Given the description of an element on the screen output the (x, y) to click on. 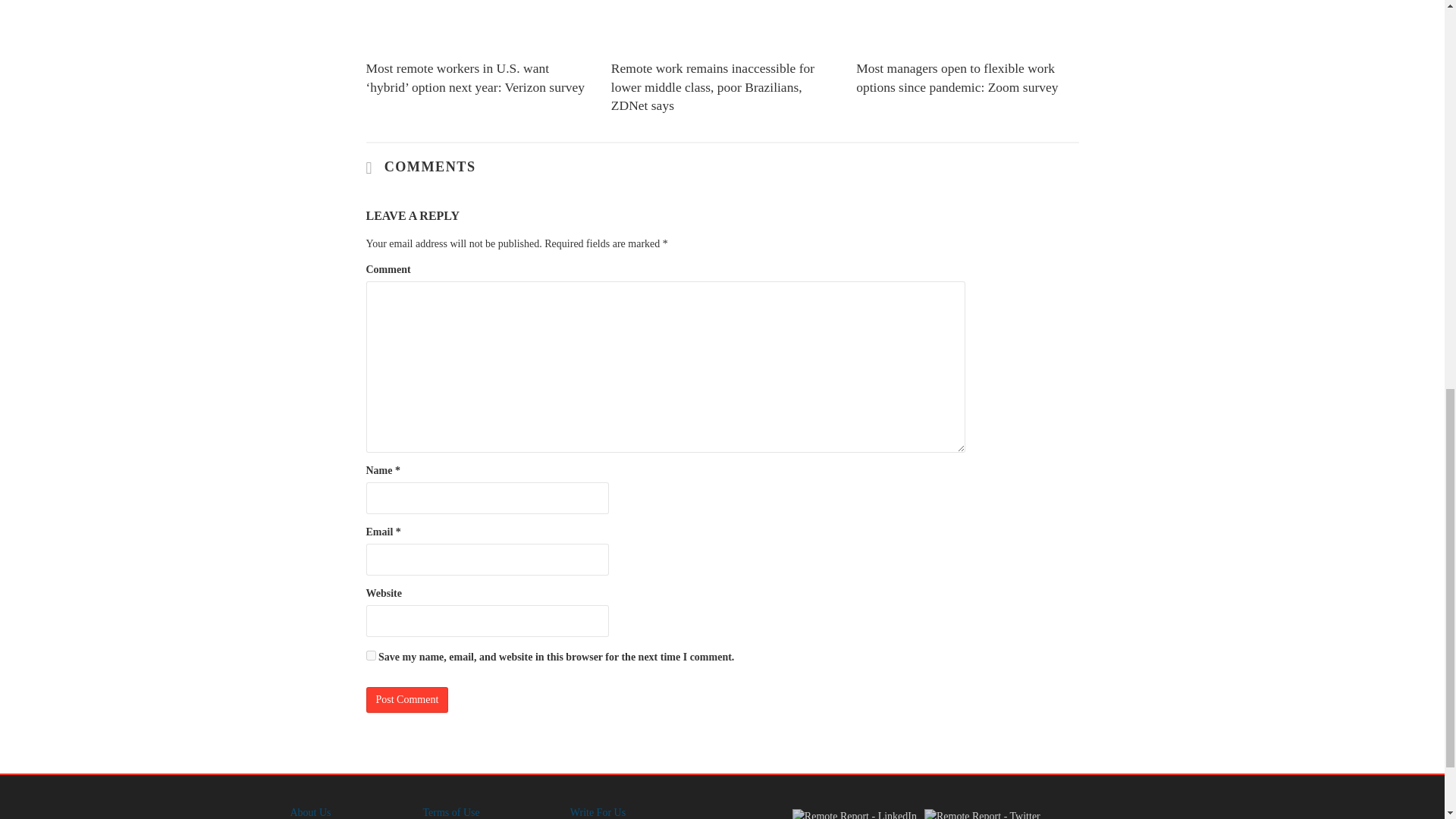
About Us (309, 812)
Post Comment (406, 699)
yes (370, 655)
Post Comment (406, 699)
Remote Report - Twitter (982, 814)
Remote Report - LinkedIn (854, 814)
